Given the description of an element on the screen output the (x, y) to click on. 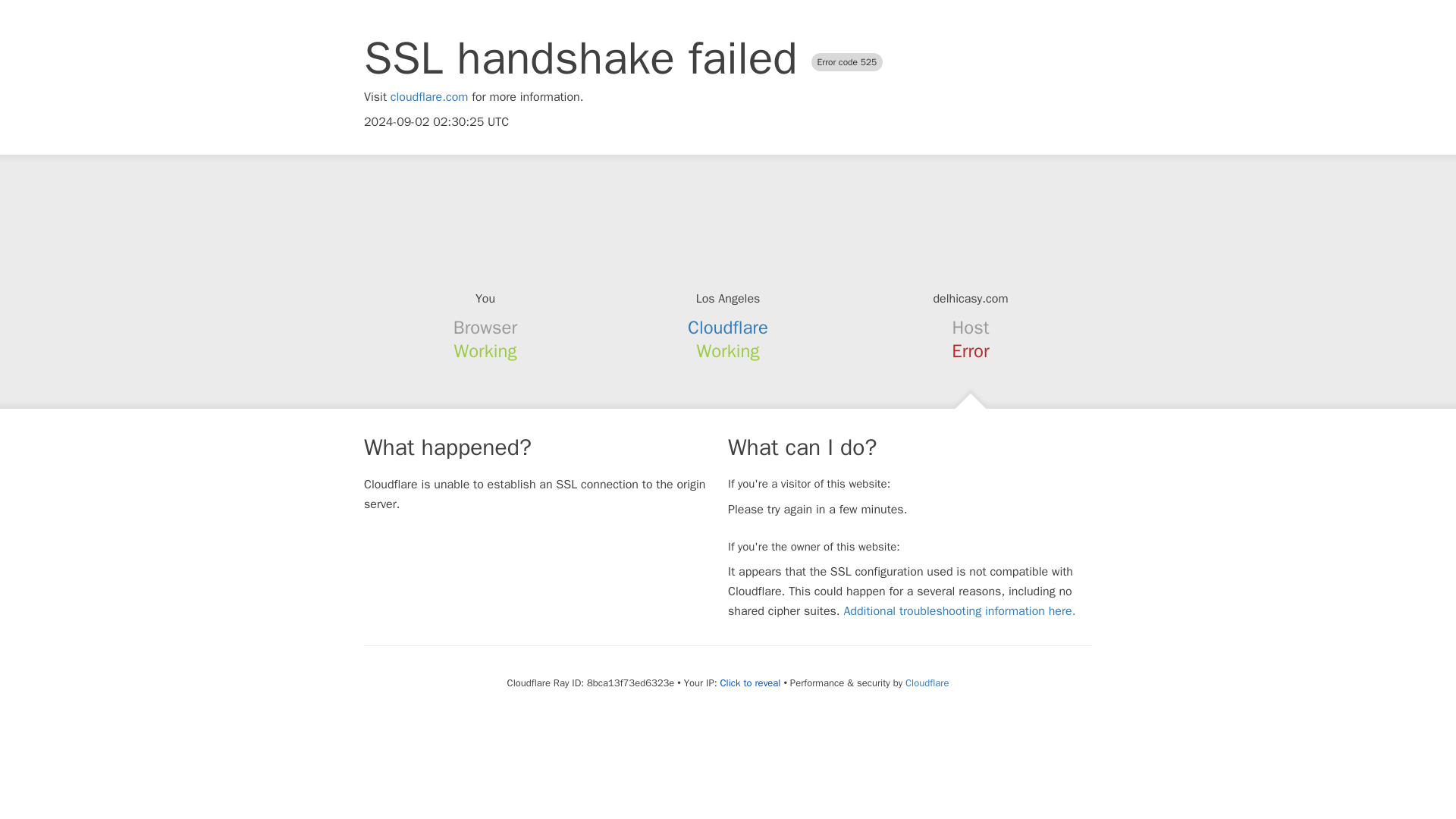
Cloudflare (727, 327)
cloudflare.com (429, 96)
Additional troubleshooting information here. (959, 611)
Click to reveal (750, 683)
Cloudflare (927, 682)
